Given the description of an element on the screen output the (x, y) to click on. 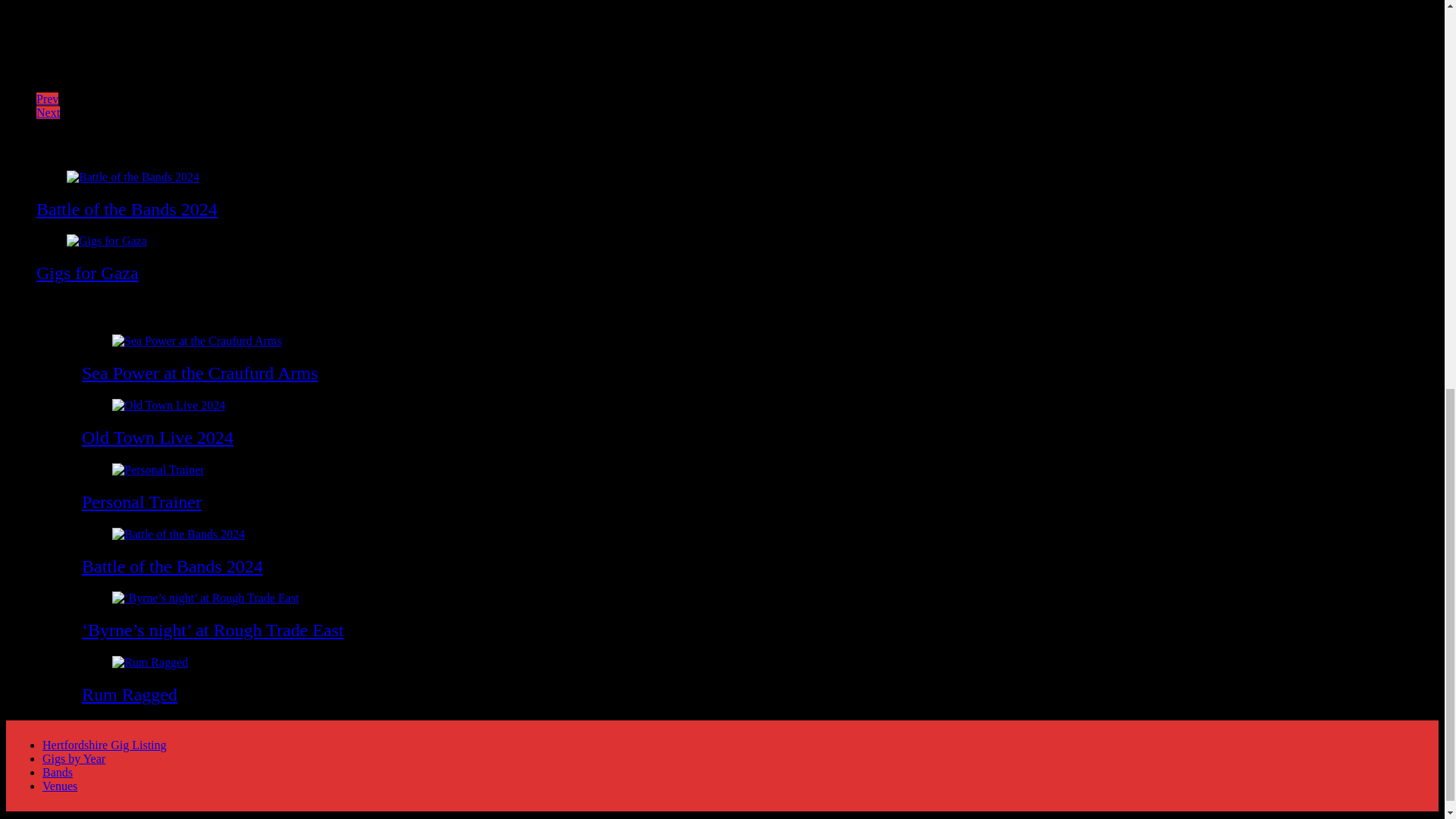
Prev (47, 98)
Sea Power at the Craufurd Arms (199, 373)
Battle of the Bands 2024 (172, 565)
Next (47, 112)
Rum Ragged (129, 694)
Gigs for Gaza (87, 272)
Old Town Live 2024 (156, 437)
Battle of the Bands 2024 (126, 209)
Personal Trainer (141, 501)
